Given the description of an element on the screen output the (x, y) to click on. 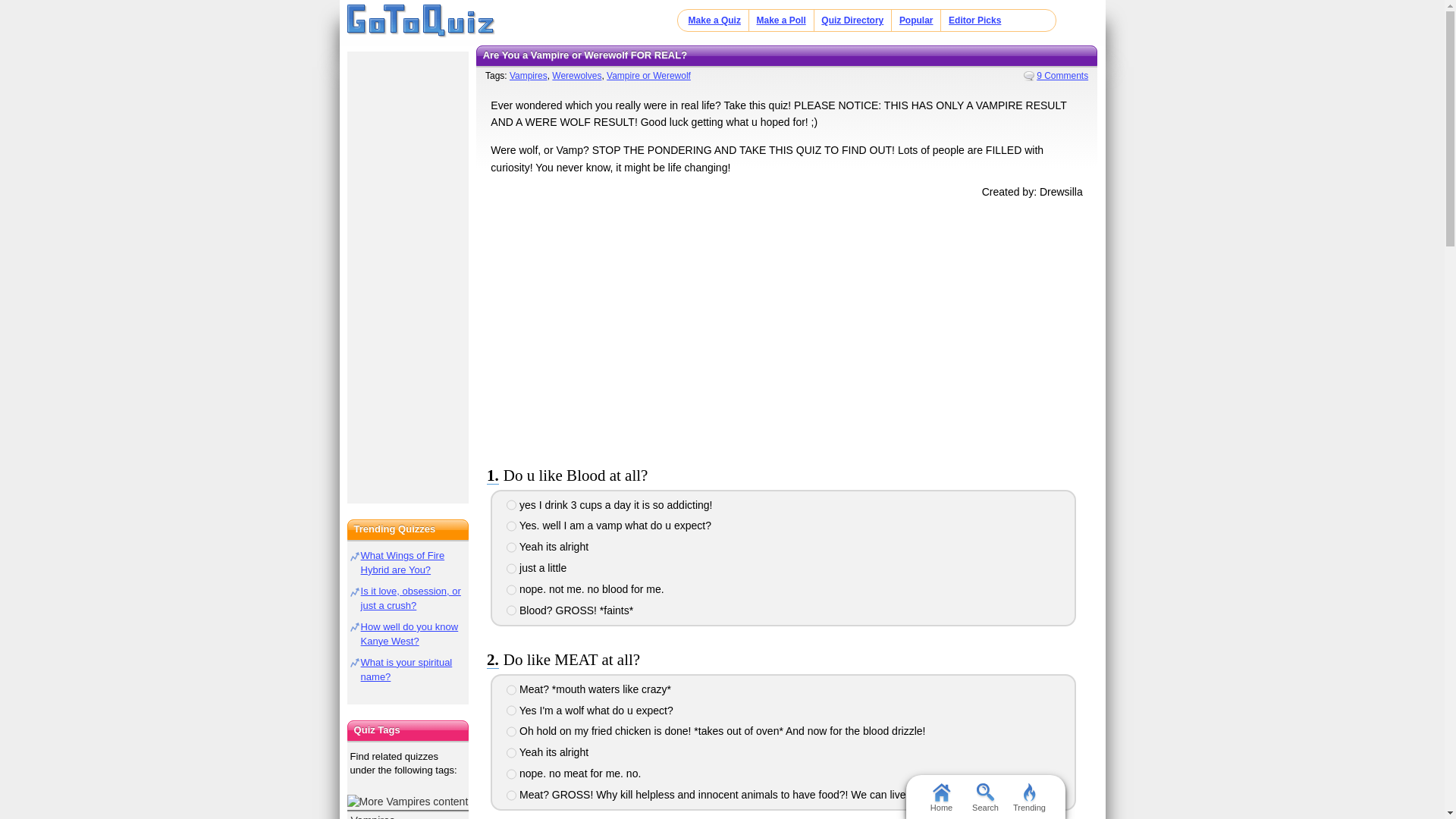
2 (511, 710)
Home (421, 20)
Make a Quiz (714, 20)
Search (984, 796)
9 Comments (1055, 75)
3 (511, 547)
How well do you know Kanye West? (409, 633)
6 (511, 795)
6 (511, 610)
Popular (916, 20)
